Given the description of an element on the screen output the (x, y) to click on. 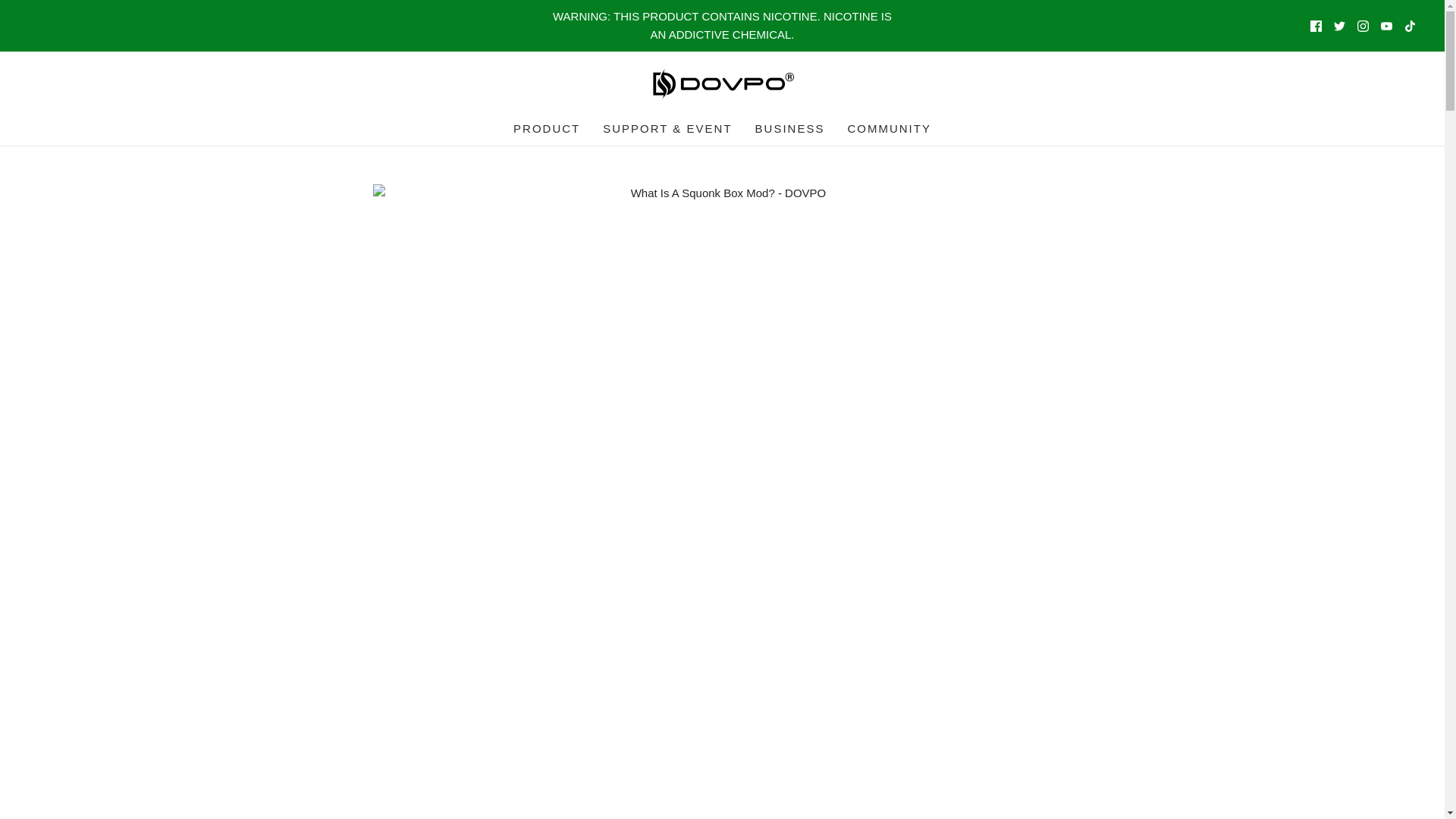
YouTube icon (1385, 25)
Instagram icon (1362, 24)
TikTok icon (1409, 24)
Twitter icon (1339, 25)
Twitter icon (1339, 24)
Facebook icon (1316, 25)
Instagram icon (1362, 25)
YouTube icon (1385, 24)
PRODUCT (546, 128)
TikTok icon (1410, 25)
